Given the description of an element on the screen output the (x, y) to click on. 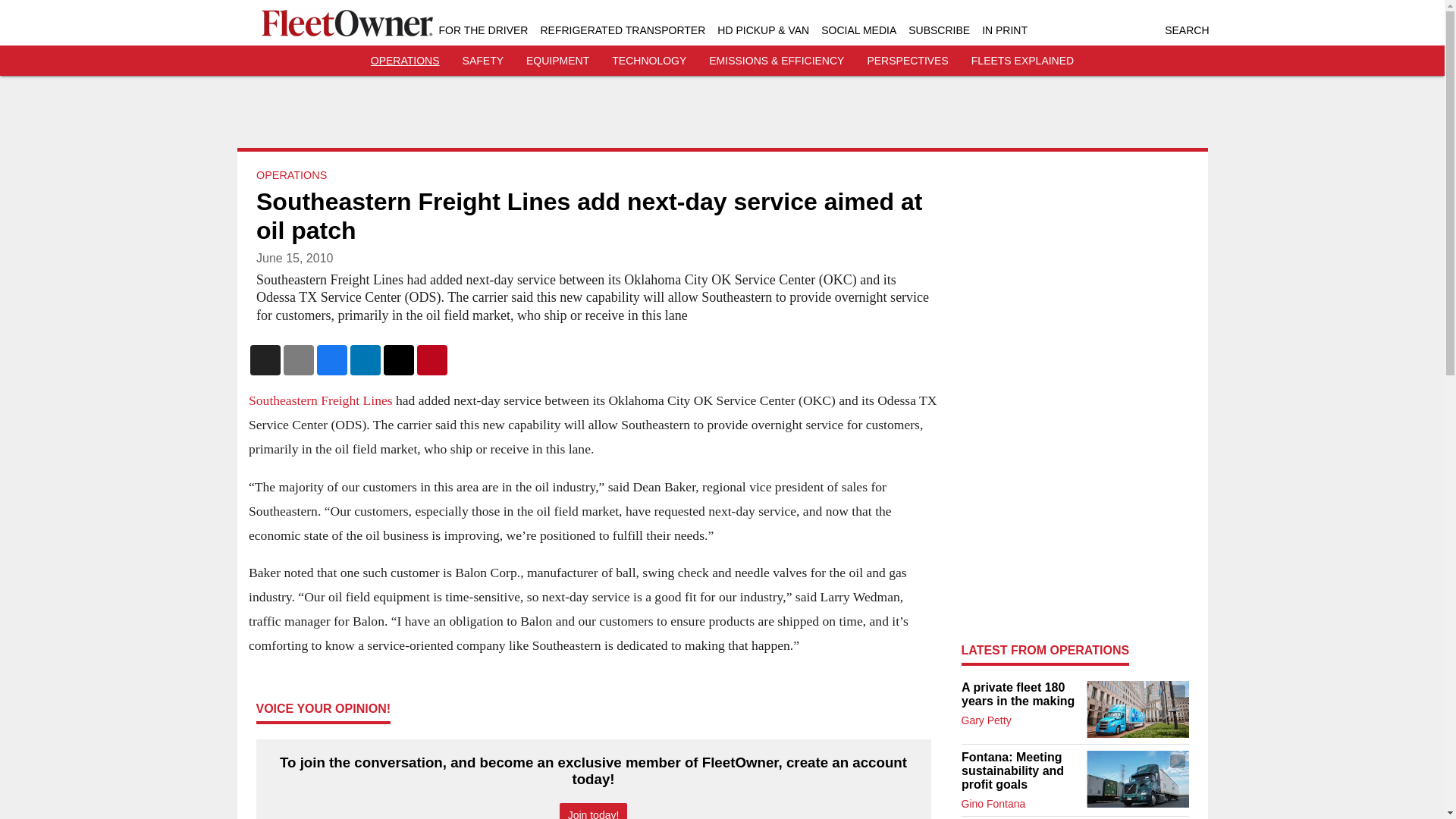
REFRIGERATED TRANSPORTER (622, 30)
OPERATIONS (405, 60)
FLEETS EXPLAINED (1022, 60)
Gary Petty (985, 720)
Join today! (593, 811)
PERSPECTIVES (906, 60)
SAFETY (483, 60)
SUBSCRIBE (938, 30)
OPERATIONS (291, 174)
A private fleet 180 years in the making (1019, 694)
